Given the description of an element on the screen output the (x, y) to click on. 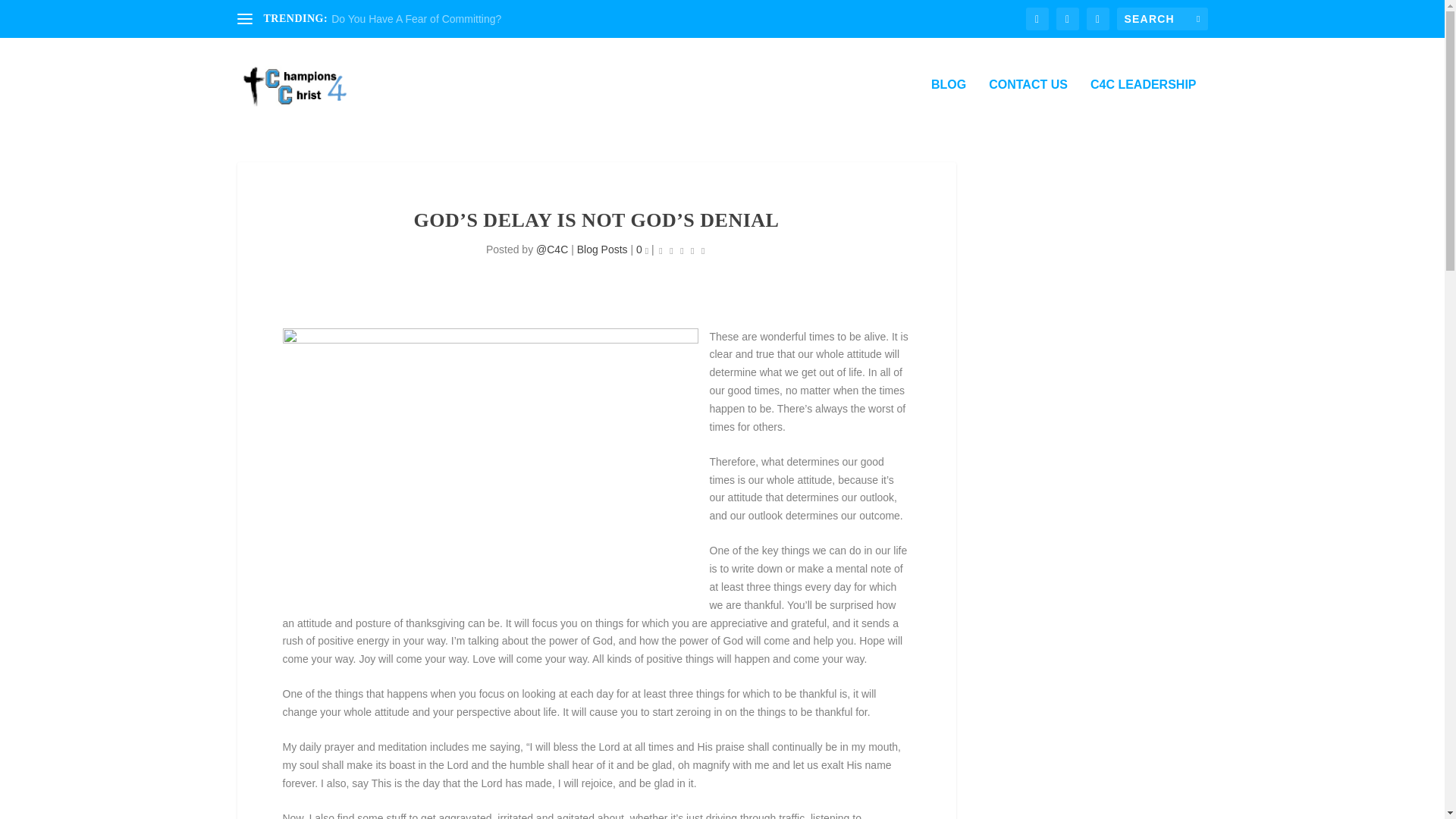
Search for: (1161, 18)
Blog Posts (601, 249)
0 (641, 249)
Rating: 0.00 (682, 250)
CONTACT US (1027, 104)
Do You Have A Fear of Committing? (415, 19)
C4C LEADERSHIP (1143, 104)
